Given the description of an element on the screen output the (x, y) to click on. 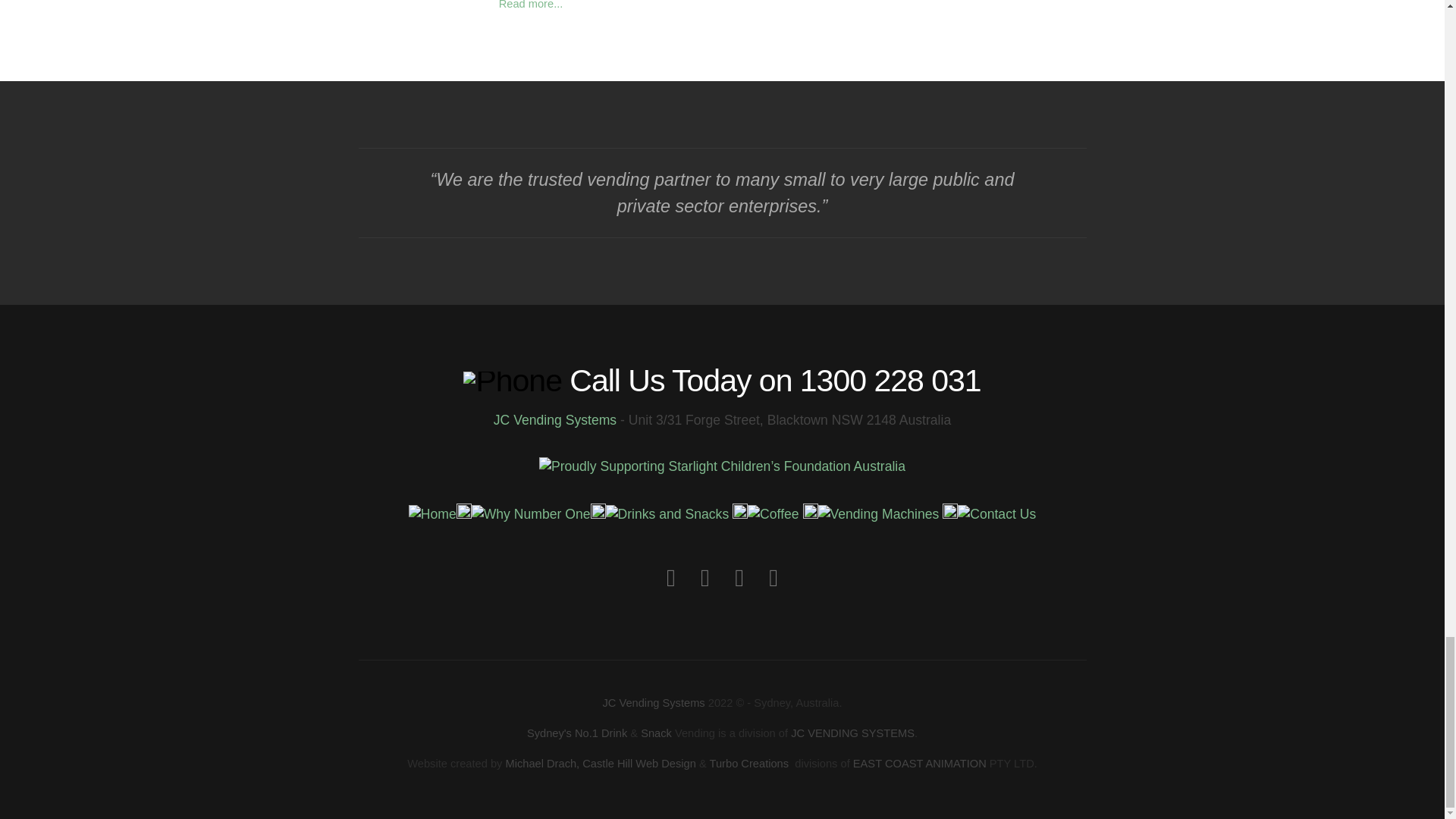
Read more... (531, 4)
JC Vending Systems (556, 419)
